Given the description of an element on the screen output the (x, y) to click on. 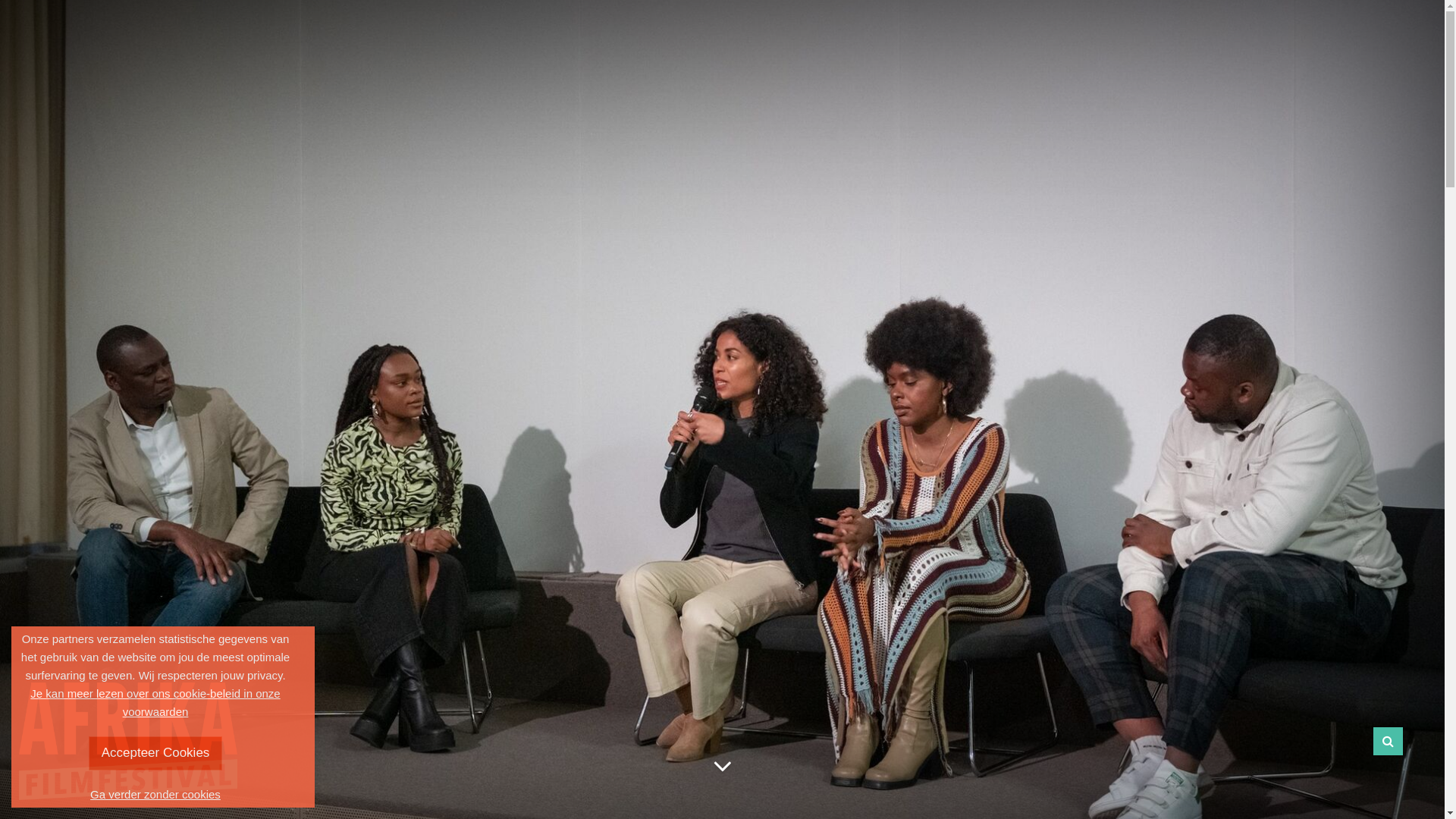
Je kan meer lezen over ons cookie-beleid in onze voorwaarden Element type: text (154, 702)
Accepteer Cookies Element type: text (155, 753)
Ga verder zonder cookies Element type: text (155, 794)
